Given the description of an element on the screen output the (x, y) to click on. 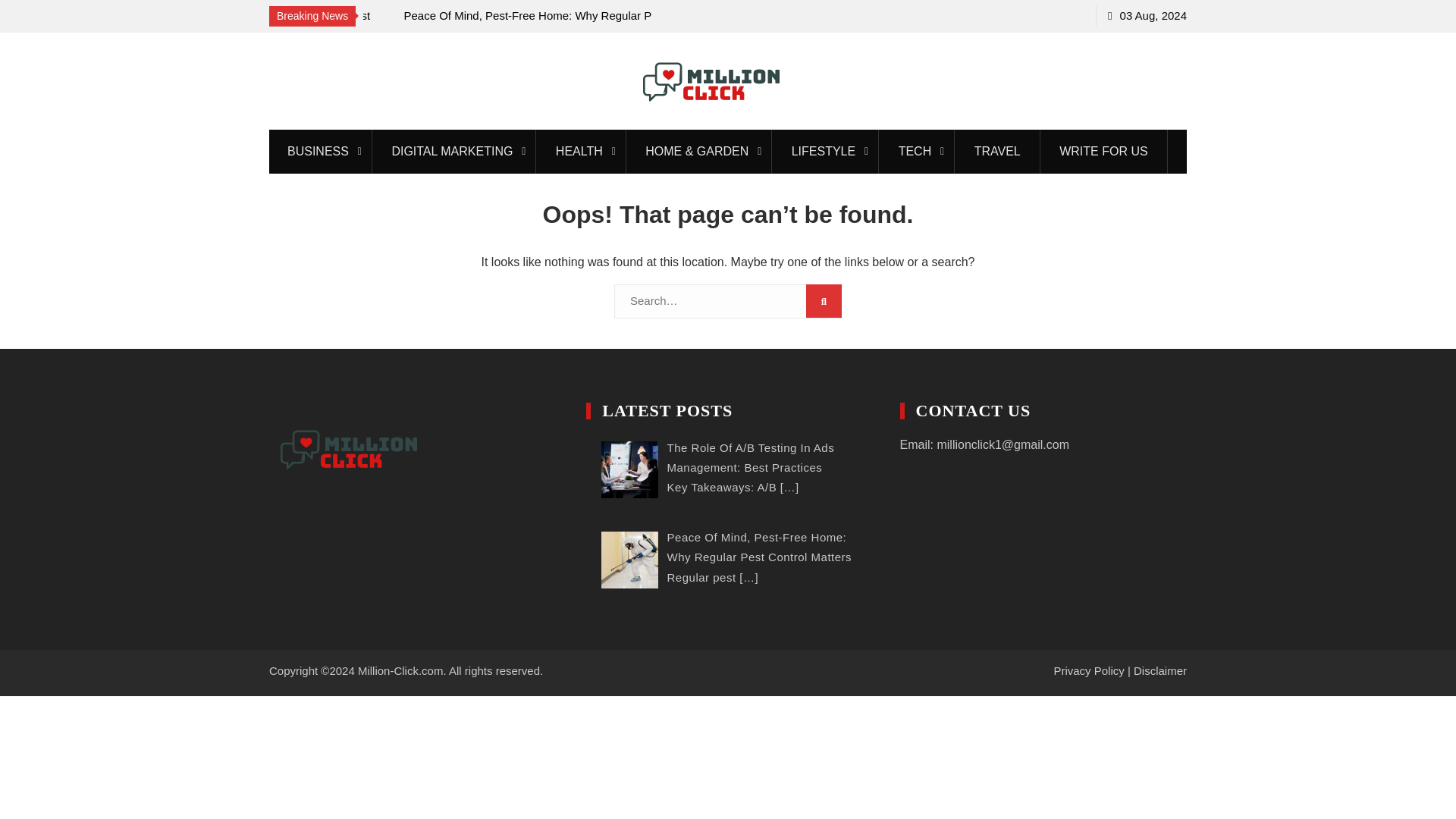
Search for: (727, 301)
